Given the description of an element on the screen output the (x, y) to click on. 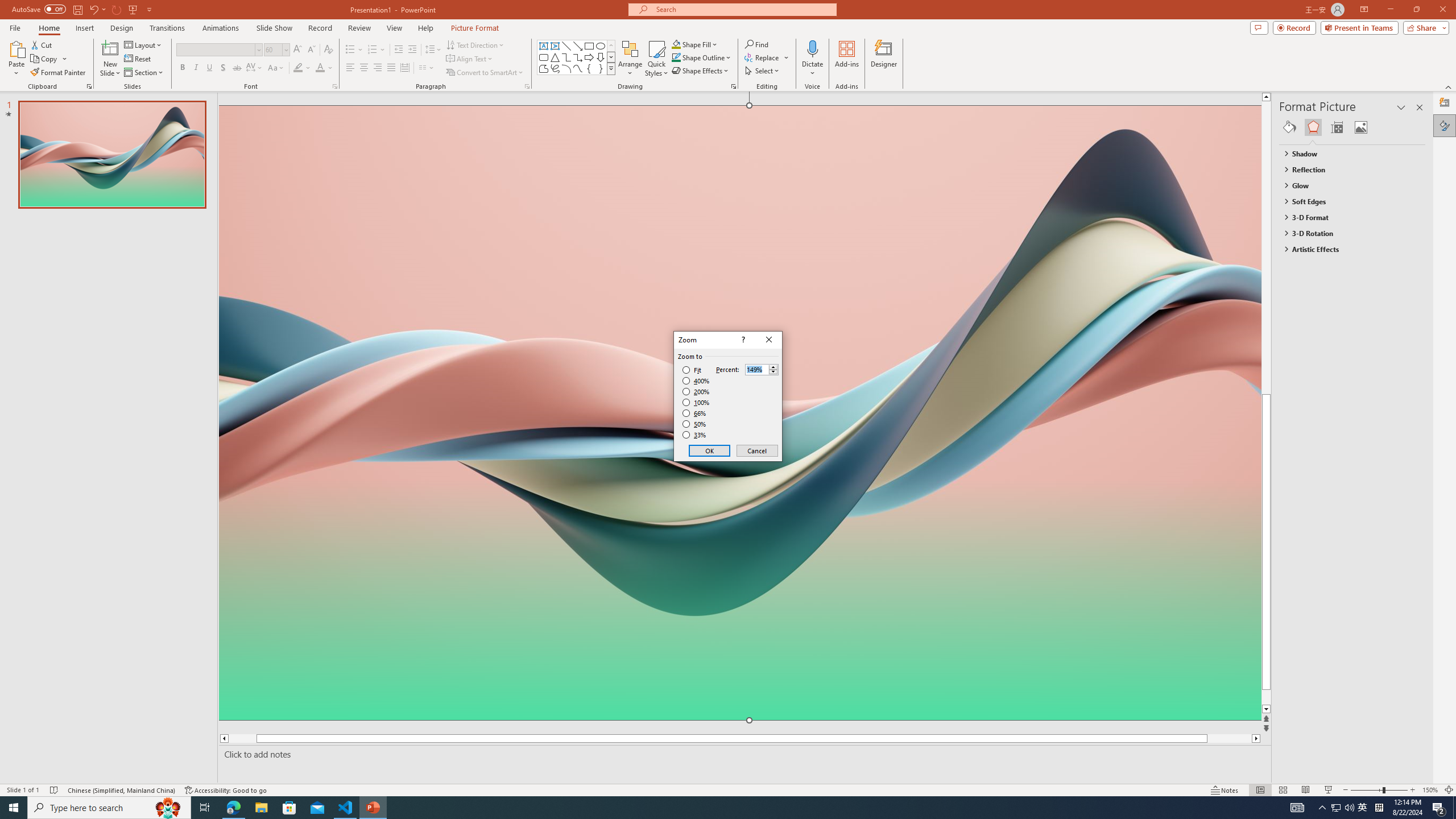
Arrange (630, 58)
Shape Outline Blue, Accent 1 (675, 56)
400% (696, 380)
3-D Format (1347, 217)
Font (219, 49)
Shape Outline (701, 56)
File Explorer (261, 807)
Change Case (276, 67)
Paste (16, 58)
Type here to search (108, 807)
Text Direction (476, 44)
Underline (209, 67)
